Given the description of an element on the screen output the (x, y) to click on. 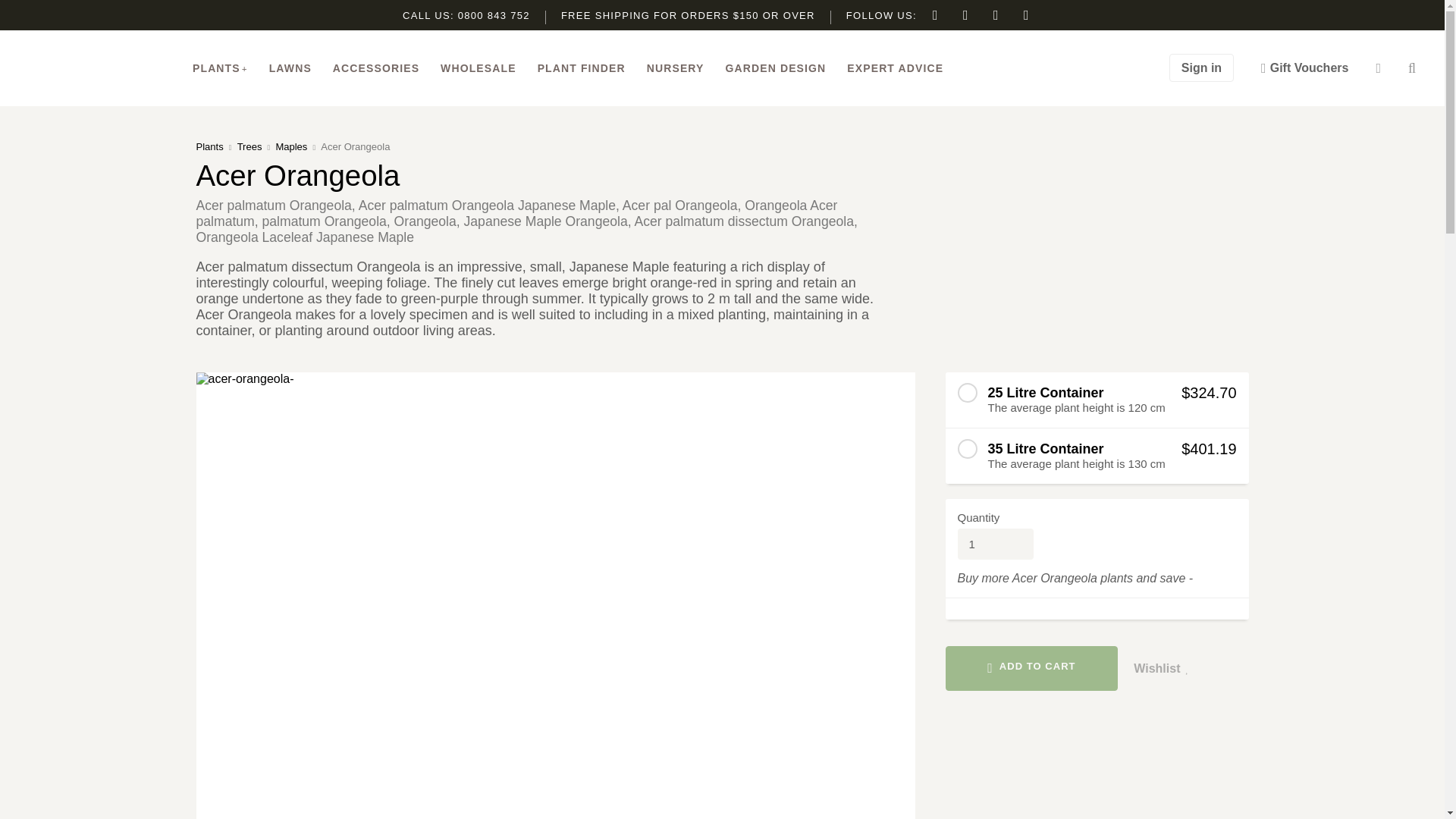
ADD TO CART (1031, 668)
Expert Advice (895, 67)
Lawns (290, 67)
Shopping cart (1377, 67)
Facebook (935, 15)
Accessories (376, 67)
LAWNS (290, 67)
Sign in (1201, 67)
CALL US: 0800 843 752 (466, 15)
Wholesale Plants (478, 67)
